Given the description of an element on the screen output the (x, y) to click on. 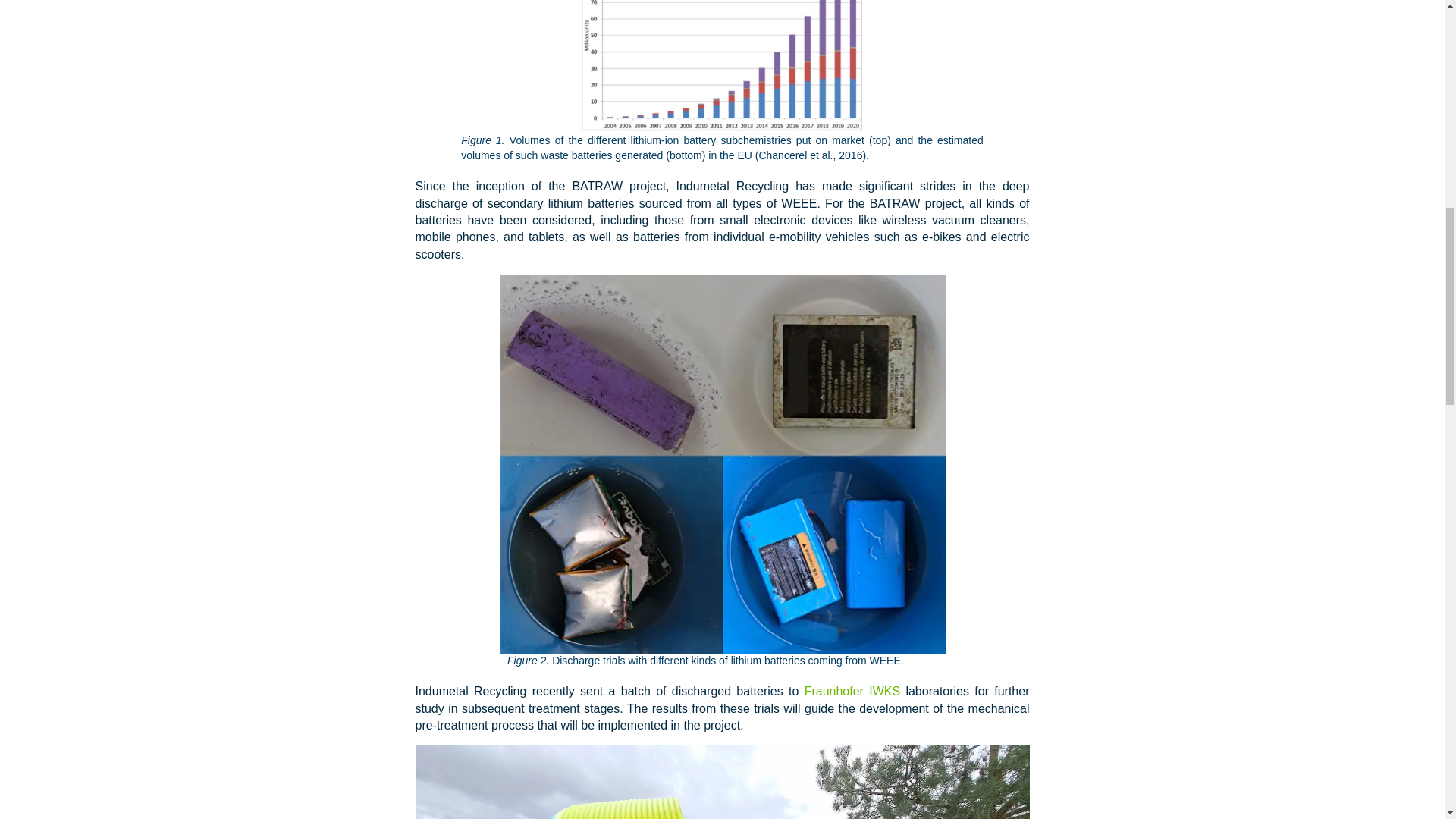
Fraunhofer IWKS (852, 690)
